Given the description of an element on the screen output the (x, y) to click on. 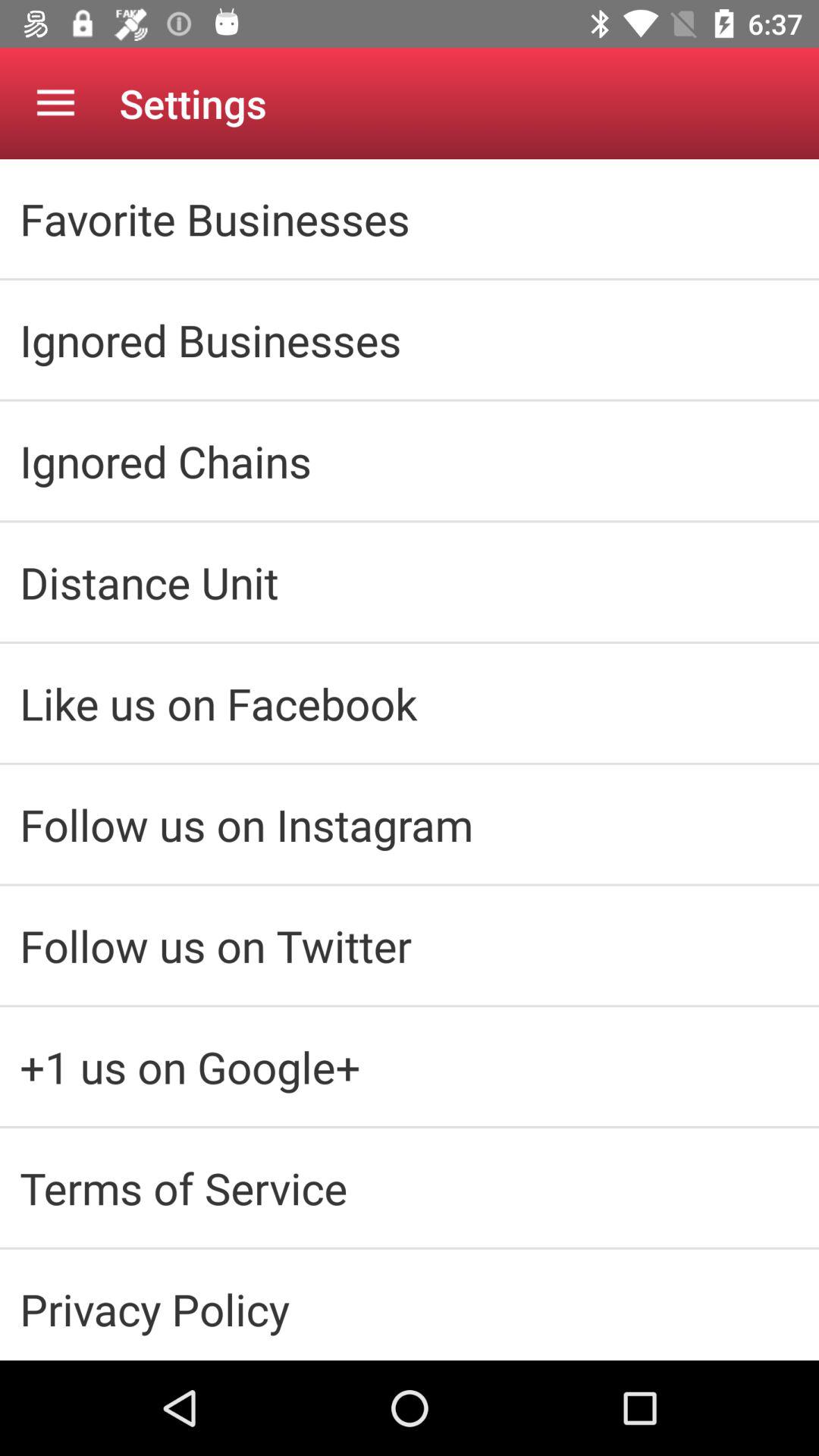
flip to the privacy policy icon (409, 1308)
